Given the description of an element on the screen output the (x, y) to click on. 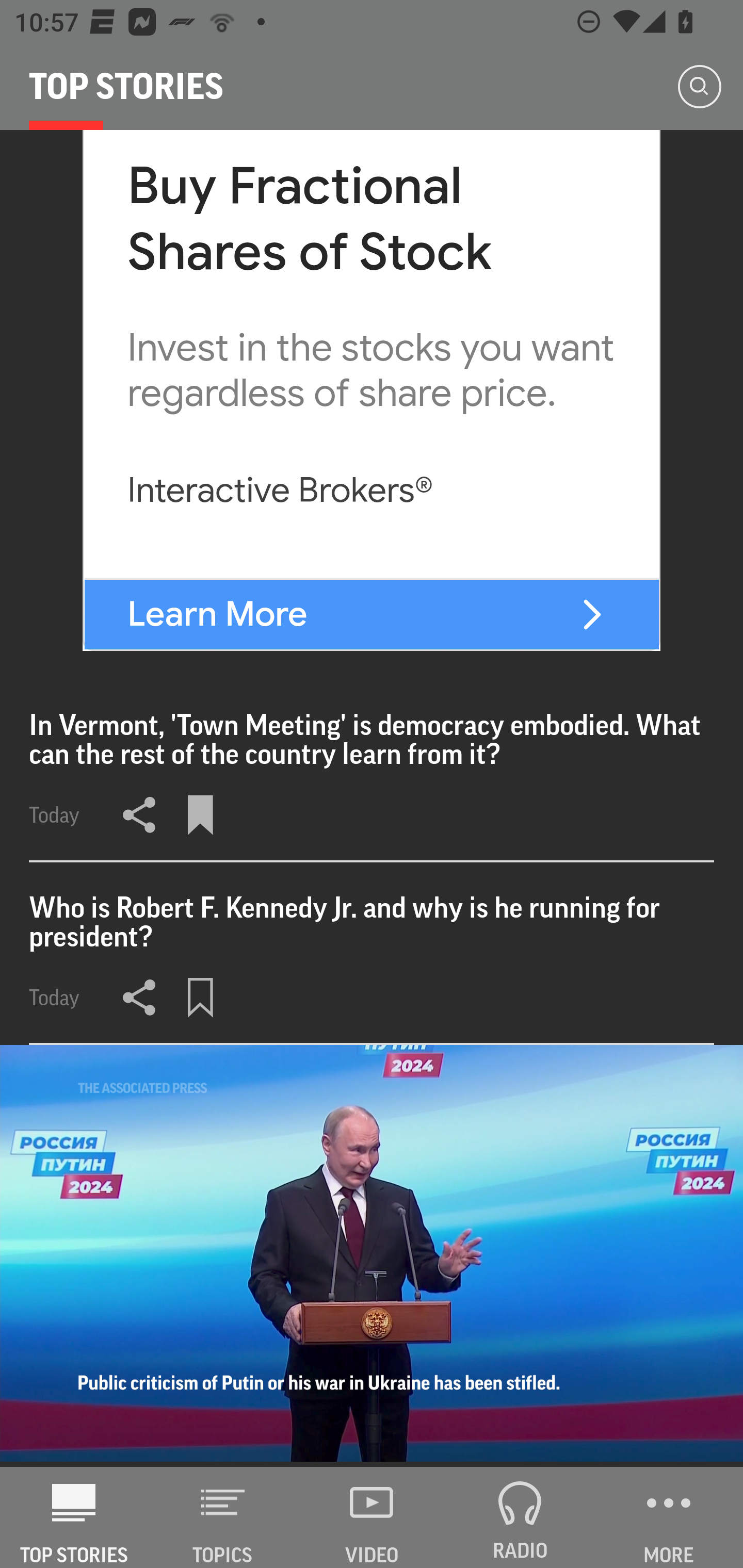
Interactive Brokers® (279, 489)
Learn More (216, 613)
toggle controls (371, 1255)
AP News TOP STORIES (74, 1517)
TOPICS (222, 1517)
VIDEO (371, 1517)
RADIO (519, 1517)
MORE (668, 1517)
